Given the description of an element on the screen output the (x, y) to click on. 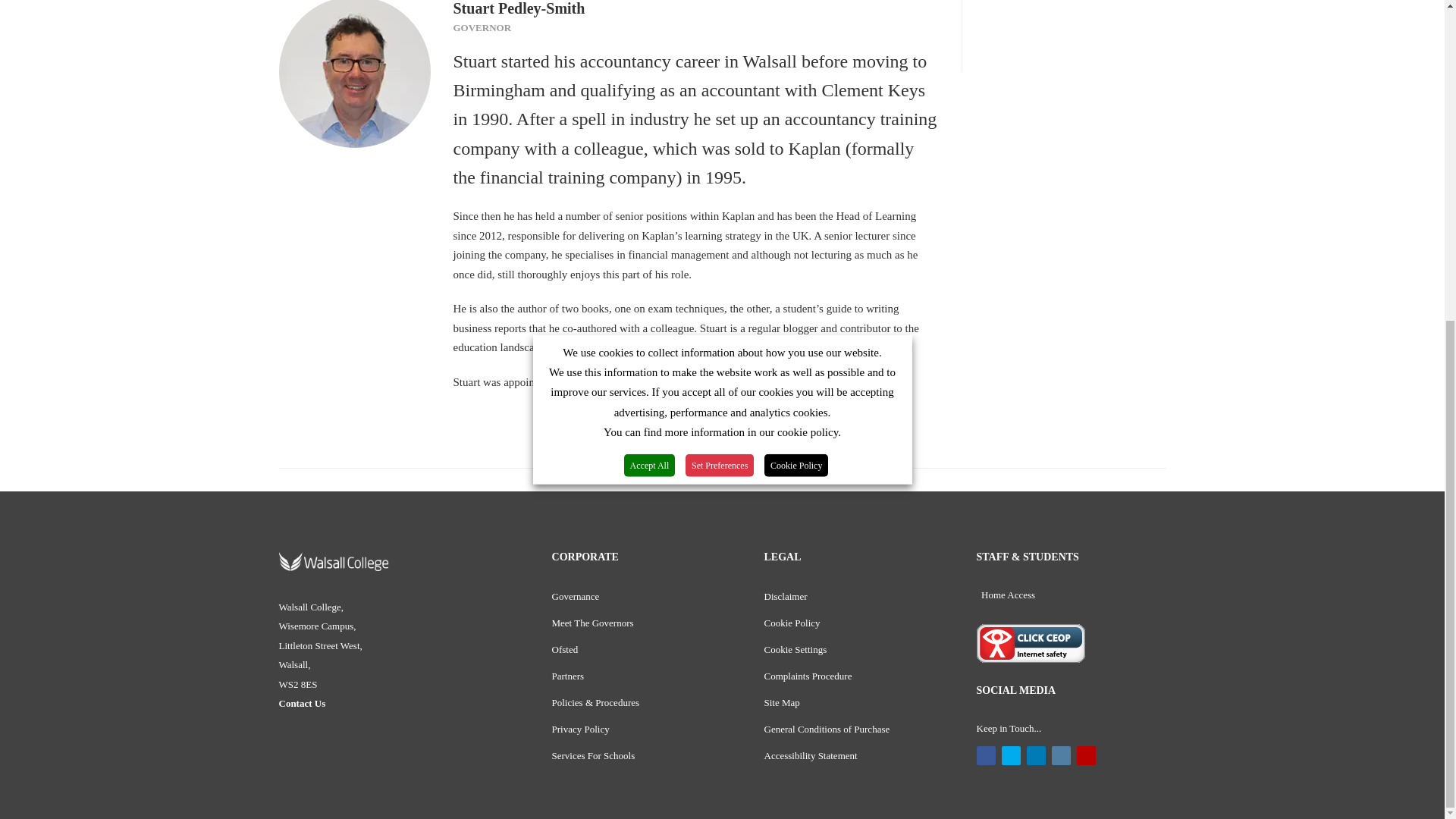
Stuart Pedley-Smith (354, 74)
